Given the description of an element on the screen output the (x, y) to click on. 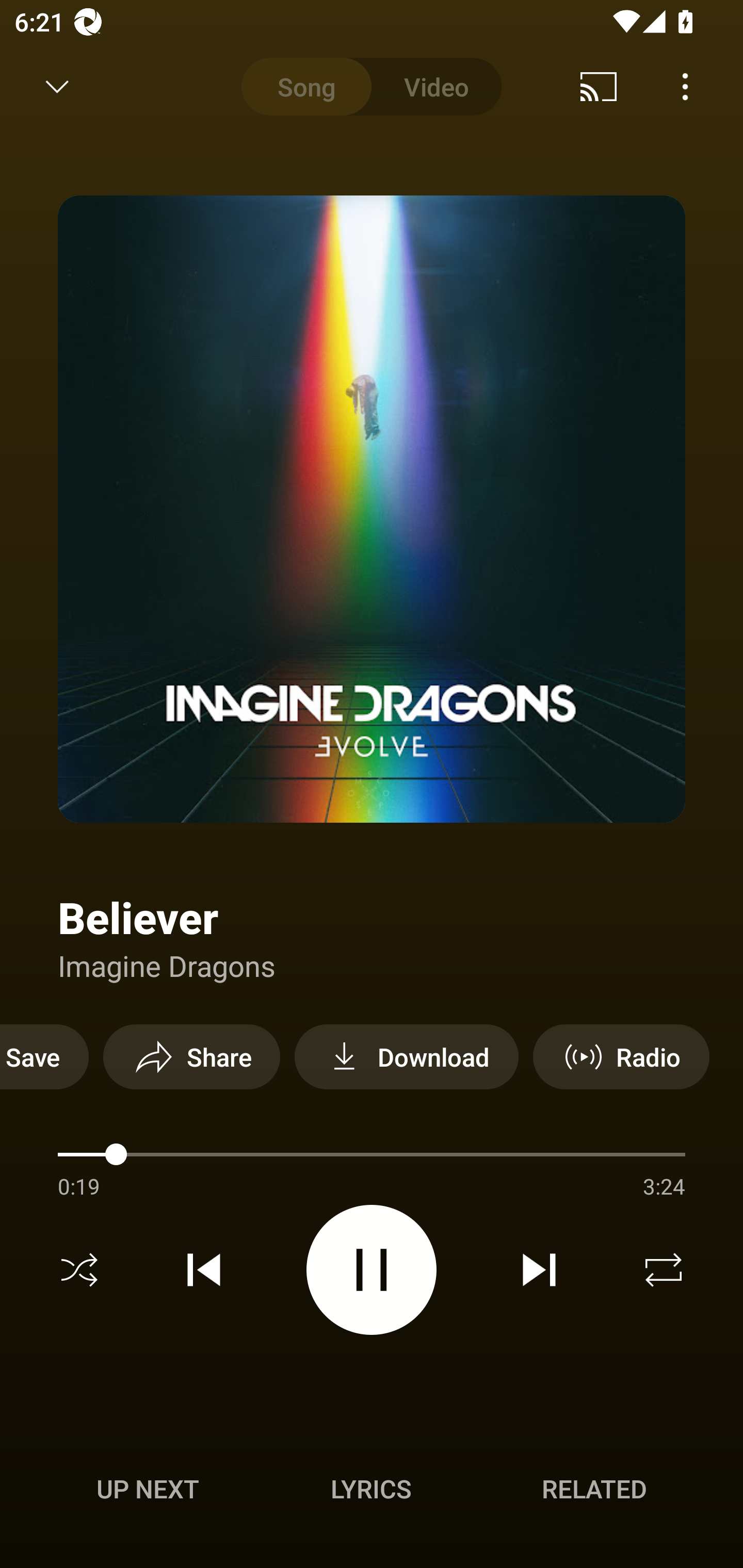
Minimize (57, 86)
Cast. Disconnected (598, 86)
Menu (684, 86)
Save Save to playlist (44, 1056)
Share (191, 1056)
Download (406, 1056)
Radio (620, 1056)
Pause video (371, 1269)
Shuffle off (79, 1269)
Previous track (203, 1269)
Next track (538, 1269)
Repeat off (663, 1269)
Up next UP NEXT Lyrics LYRICS Related RELATED (371, 1491)
Lyrics LYRICS (370, 1488)
Related RELATED (594, 1488)
